Given the description of an element on the screen output the (x, y) to click on. 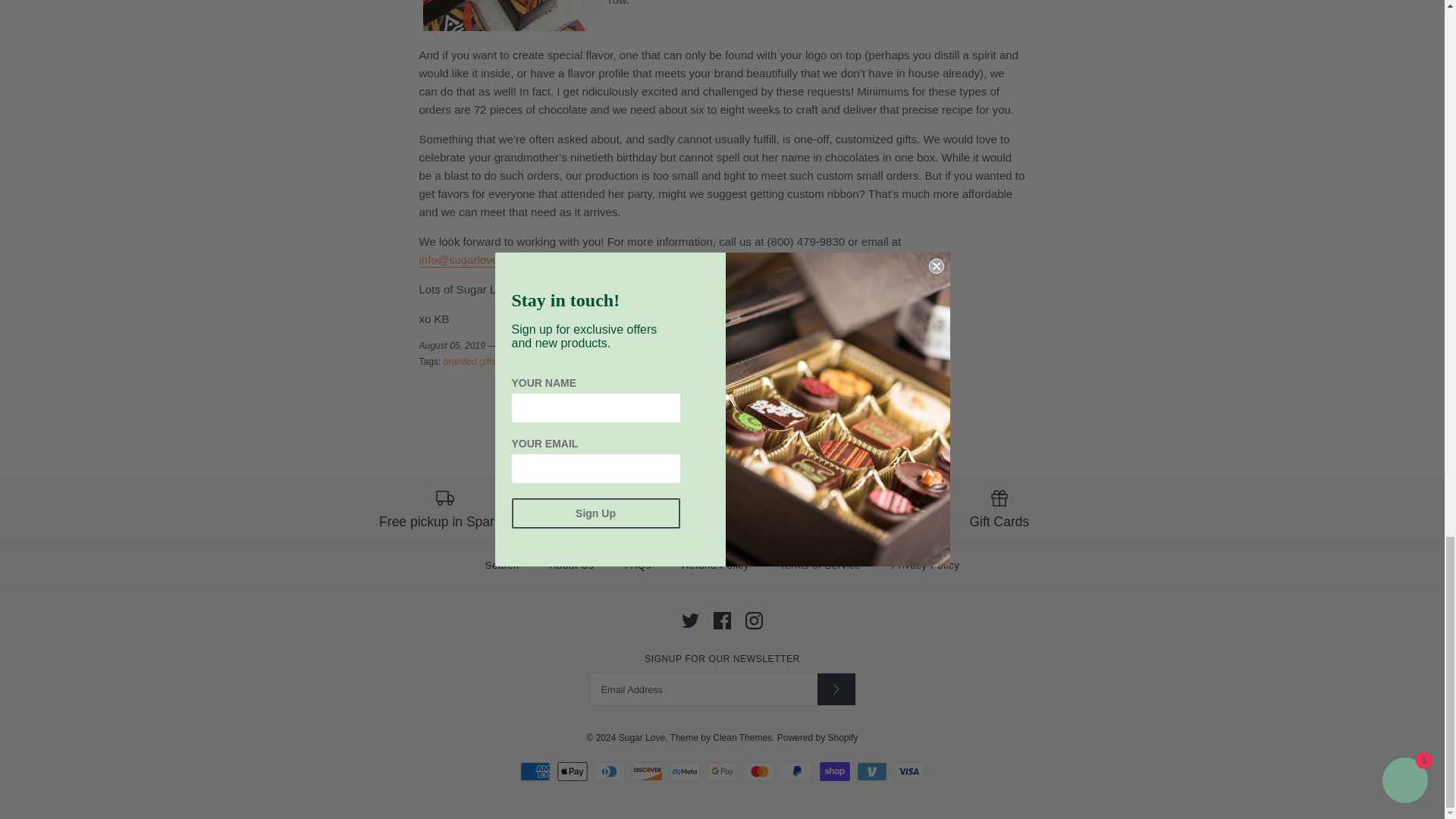
Twitter (689, 620)
Diners Club (609, 771)
Instagram (753, 620)
Discover (646, 771)
American Express (534, 771)
Facebook (721, 620)
Apple Pay (572, 771)
